Given the description of an element on the screen output the (x, y) to click on. 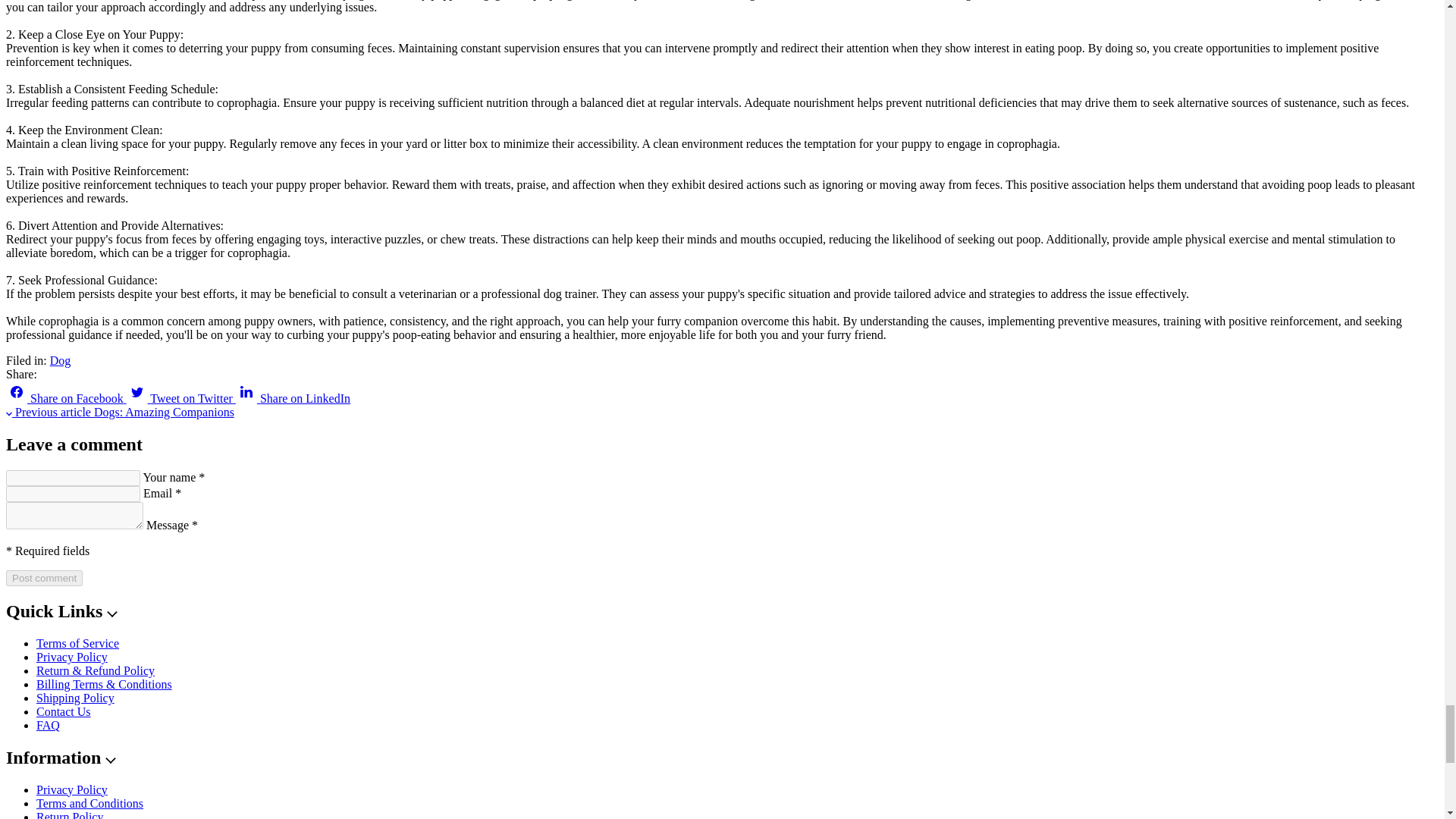
Previous article Dogs: Amazing Companions (119, 411)
Post comment (43, 578)
Tweet on Twitter (180, 398)
Show articles tagged Dog (60, 359)
Share on Facebook (65, 398)
Share on LinkedIn (292, 398)
Dog (60, 359)
Terms of Service (77, 643)
